Given the description of an element on the screen output the (x, y) to click on. 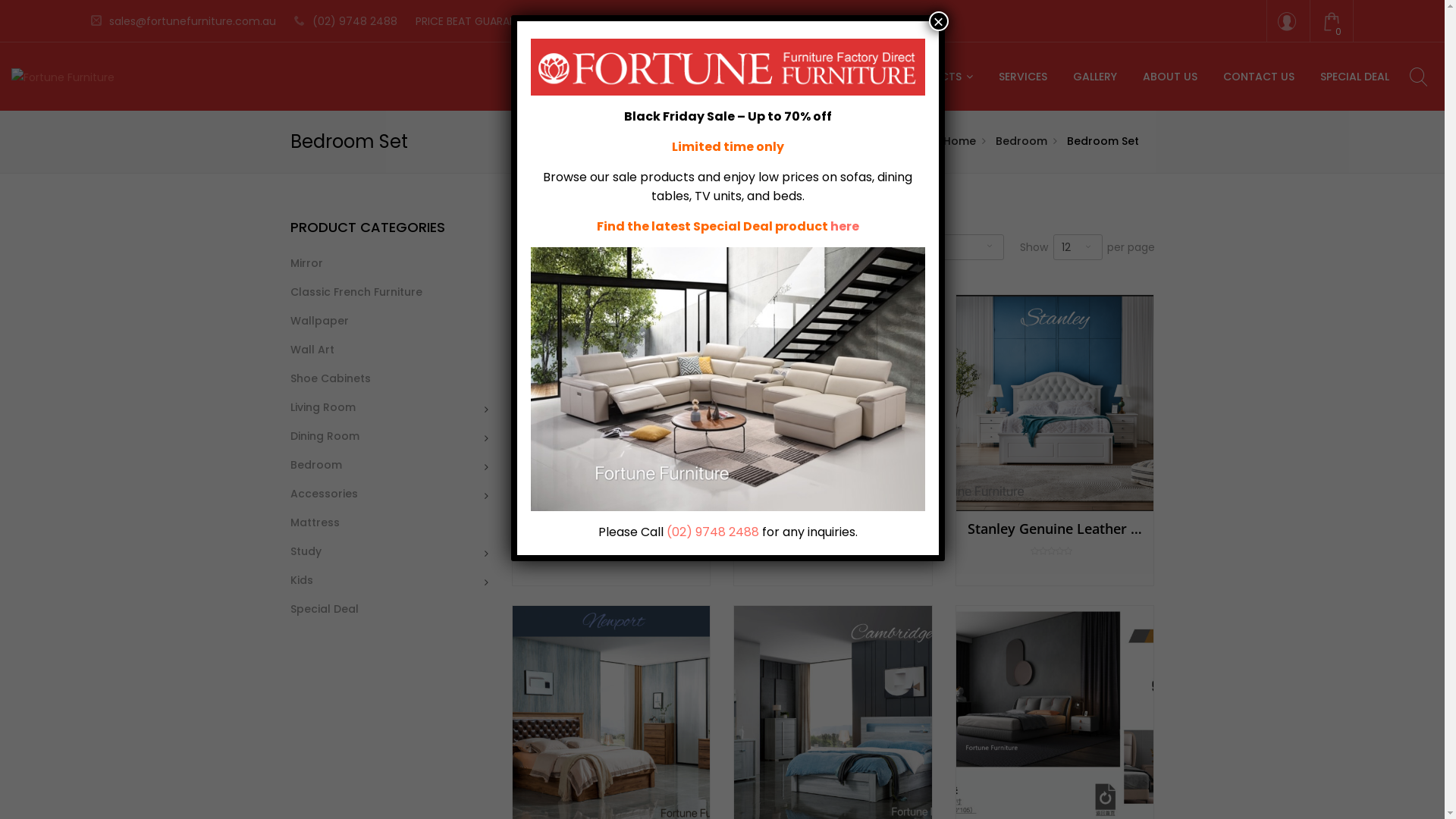
Mirror Element type: text (305, 261)
Dining Room Element type: text (323, 434)
PRODUCTS Element type: text (937, 76)
sales@fortunefurniture.com.au Element type: text (183, 20)
Wall Art Element type: text (311, 347)
Living Room Element type: text (321, 405)
Special Deal Element type: text (323, 607)
Bedroom Element type: text (315, 462)
SERVICES Element type: text (1022, 76)
(02) 9748 2488 Element type: text (712, 531)
Classic French Furniture Element type: text (355, 290)
Jenny(051B )Top Grain Italian Leather Bed Element type: text (610, 539)
Stanley Genuine Leather Bed With Storage Element type: text (1054, 539)
Kids Element type: text (300, 578)
(02) 9748 2488 Element type: text (345, 20)
-- Element type: text (950, 247)
CONTACT US Element type: text (1258, 76)
HOME Element type: text (861, 76)
Shoe Cabinets Element type: text (329, 376)
0 Element type: text (1331, 25)
GALLERY Element type: text (1095, 76)
here Element type: text (844, 226)
Accessories Element type: text (323, 491)
Home Element type: text (950, 140)
SPECIAL DEAL Element type: text (1354, 76)
Study Element type: text (304, 549)
Mattress Element type: text (313, 520)
Bedroom Element type: text (1020, 140)
ABOUT US Element type: text (1169, 76)
Wallpaper Element type: text (318, 318)
B050 Luxury Function Bed Element type: text (832, 539)
